Given the description of an element on the screen output the (x, y) to click on. 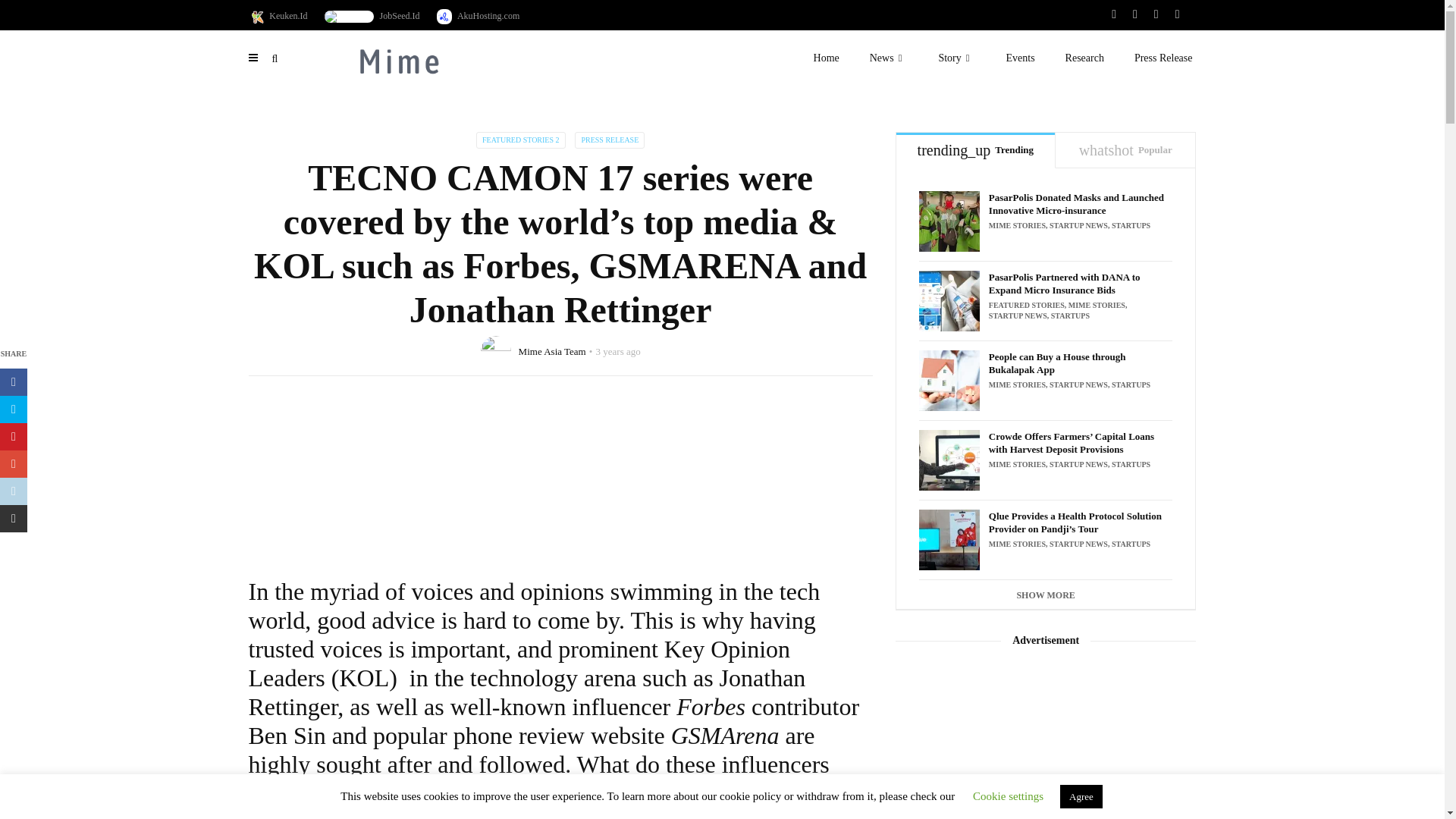
AkuHosting.com (477, 16)
Home (825, 57)
Research (1084, 57)
Press Release (1163, 57)
JobSeed.Id (372, 15)
Keuken.Id (277, 16)
Story (956, 57)
Advertisement (560, 470)
PRESS RELEASE (610, 139)
FEATURED STORIES 2 (521, 139)
Advertisement (1045, 741)
News (888, 57)
Events (1019, 57)
